Given the description of an element on the screen output the (x, y) to click on. 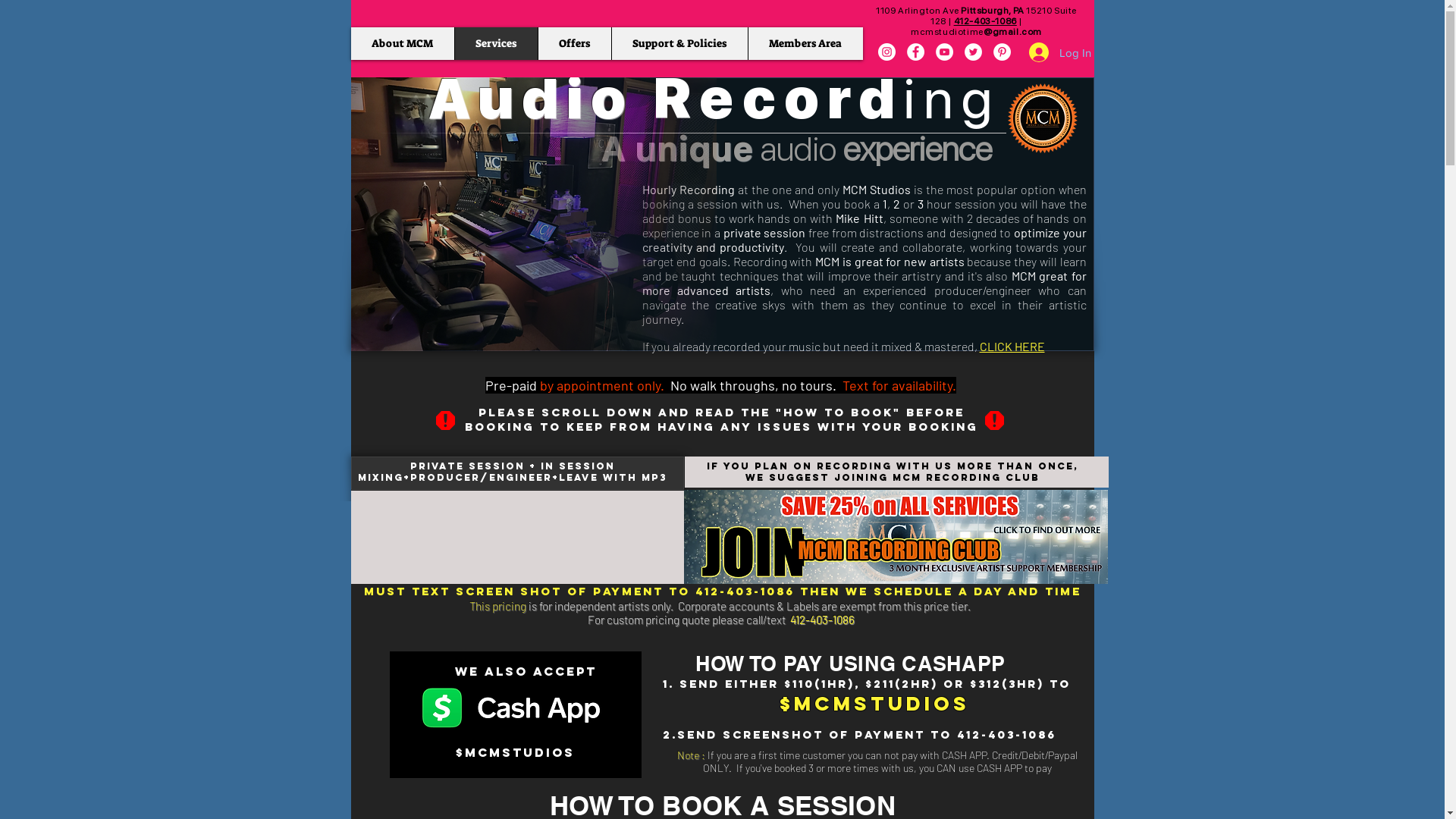
Studio Sessions at MCM Studios in Pittsburgh PA Element type: hover (532, 214)
MCM Studios Pittsburgh Recording Studio Logo Element type: hover (1042, 120)
Members Area Element type: text (804, 43)
CLICK HERE Element type: text (1011, 345)
412-403-1086 Element type: text (984, 20)
Offers Element type: text (573, 43)
Log In Element type: text (1048, 51)
Support & Policies Element type: text (679, 43)
Services Element type: text (494, 43)
1109 Arlington Ave Pittsburgh, PA 15210 Suite 128 Element type: text (975, 15)
mcmstudiotime@gmail.com Element type: text (975, 31)
About MCM Element type: text (401, 43)
412-403-1086 Element type: text (822, 619)
